Given the description of an element on the screen output the (x, y) to click on. 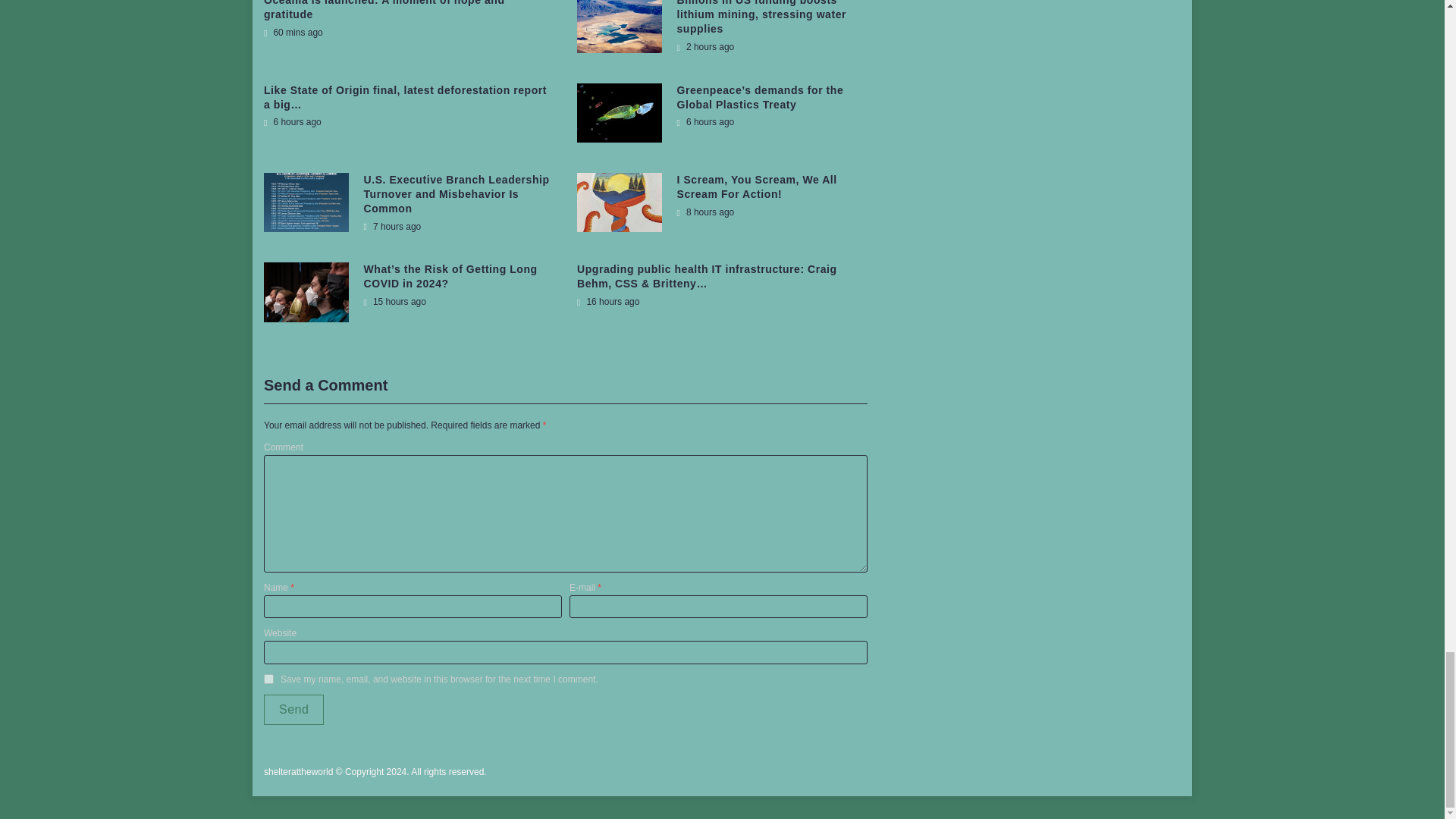
I Scream, You Scream, We All Scream For Action! (757, 186)
Oceania is launched: A moment of hope and gratitude (384, 10)
I Scream, You Scream, We All Scream For Action! (757, 186)
Oceania is launched: A moment of hope and gratitude (384, 10)
7 hours ago (393, 226)
8 hours ago (706, 212)
6 hours ago (706, 122)
2 hours ago (706, 46)
yes (268, 678)
Send (293, 709)
